Given the description of an element on the screen output the (x, y) to click on. 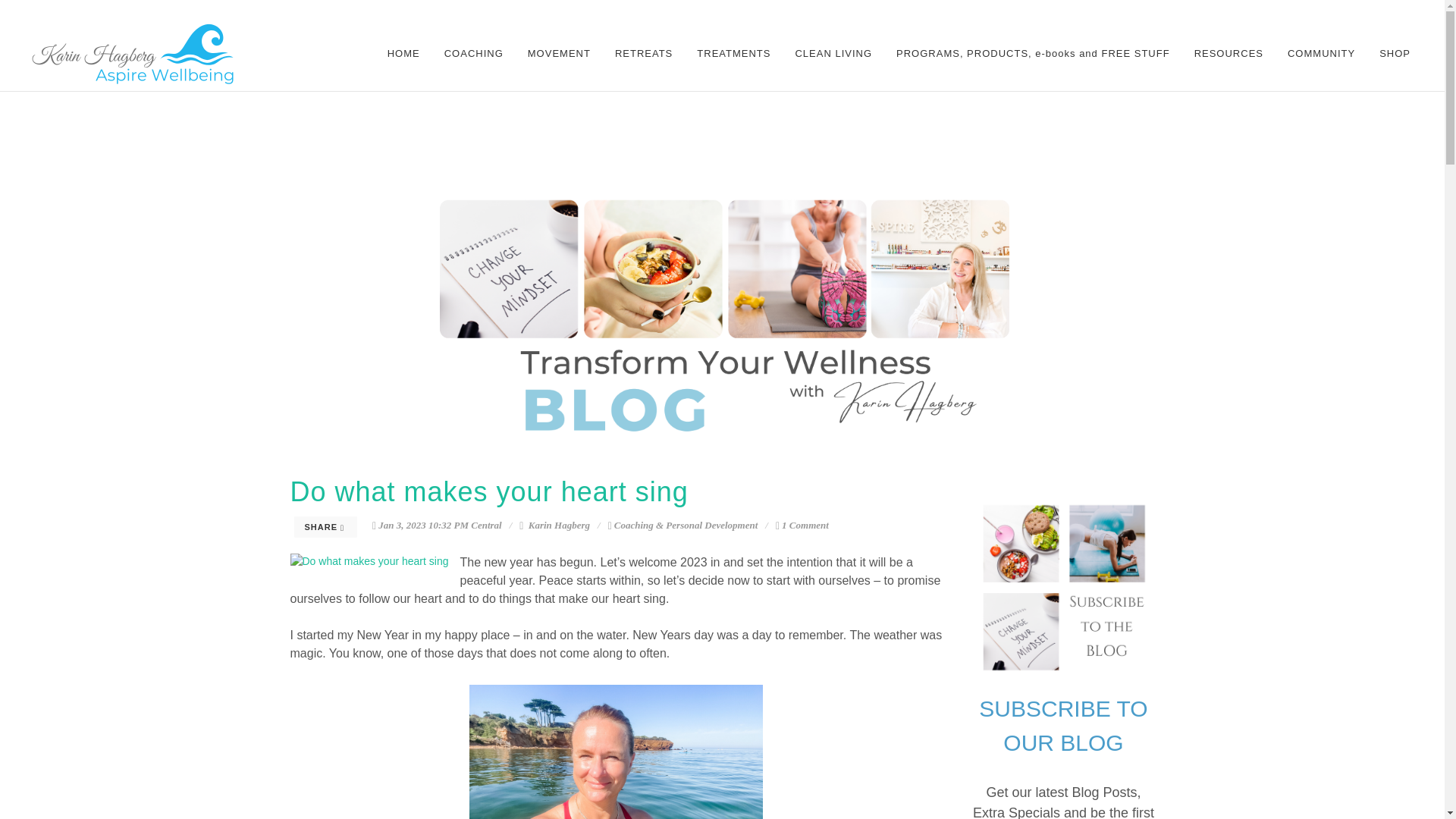
SHARE (326, 526)
MOVEMENT (559, 53)
RETREATS (644, 53)
PROGRAMS, PRODUCTS, e-books and FREE STUFF (1032, 53)
RESOURCES (1228, 53)
CLEAN LIVING (833, 53)
HOME (402, 53)
COMMUNITY (1321, 53)
Do what makes your heart sing (488, 490)
SHOP (1395, 53)
COACHING (473, 53)
TREATMENTS (733, 53)
